Given the description of an element on the screen output the (x, y) to click on. 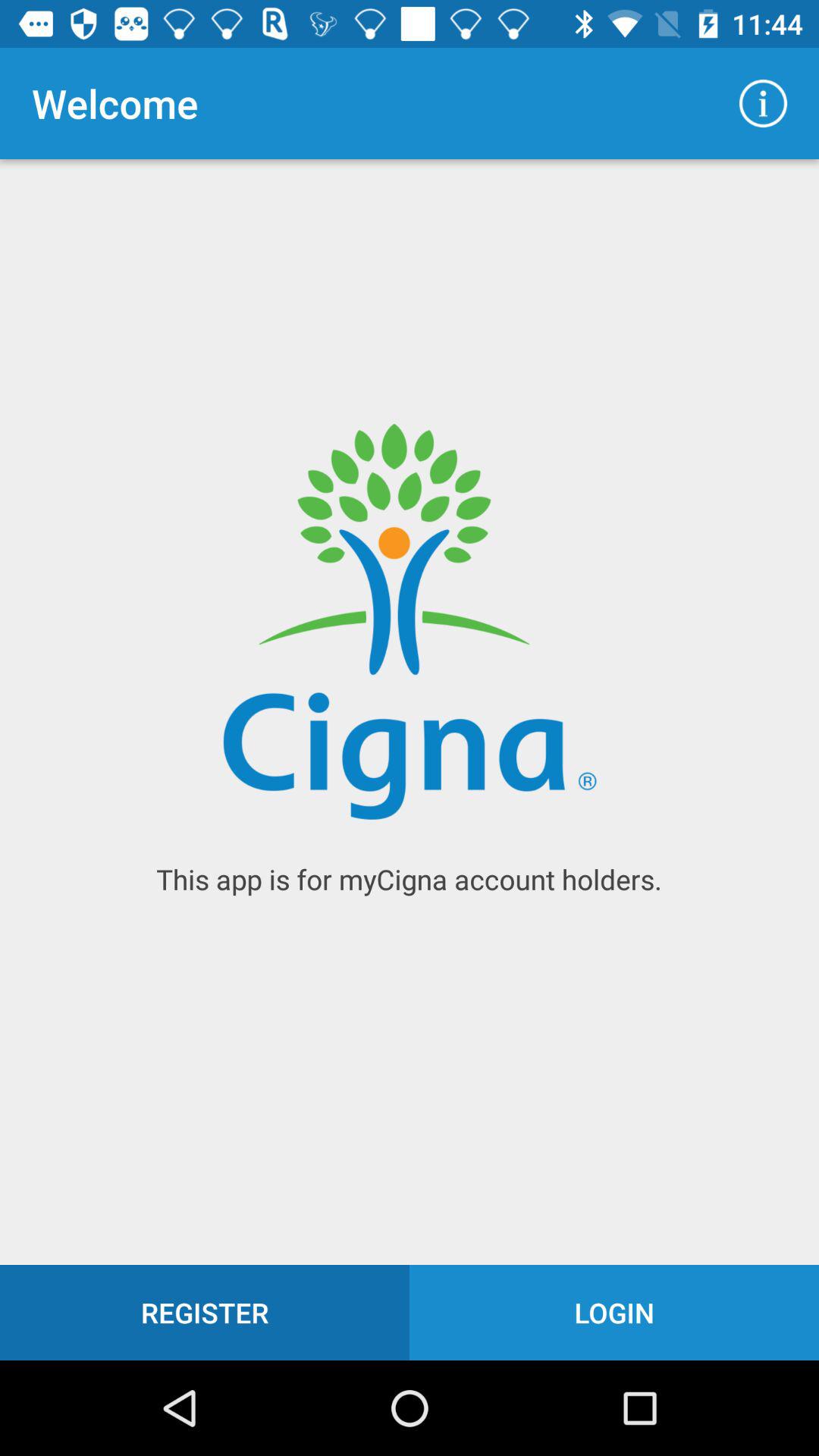
choose the icon at the bottom left corner (204, 1312)
